Given the description of an element on the screen output the (x, y) to click on. 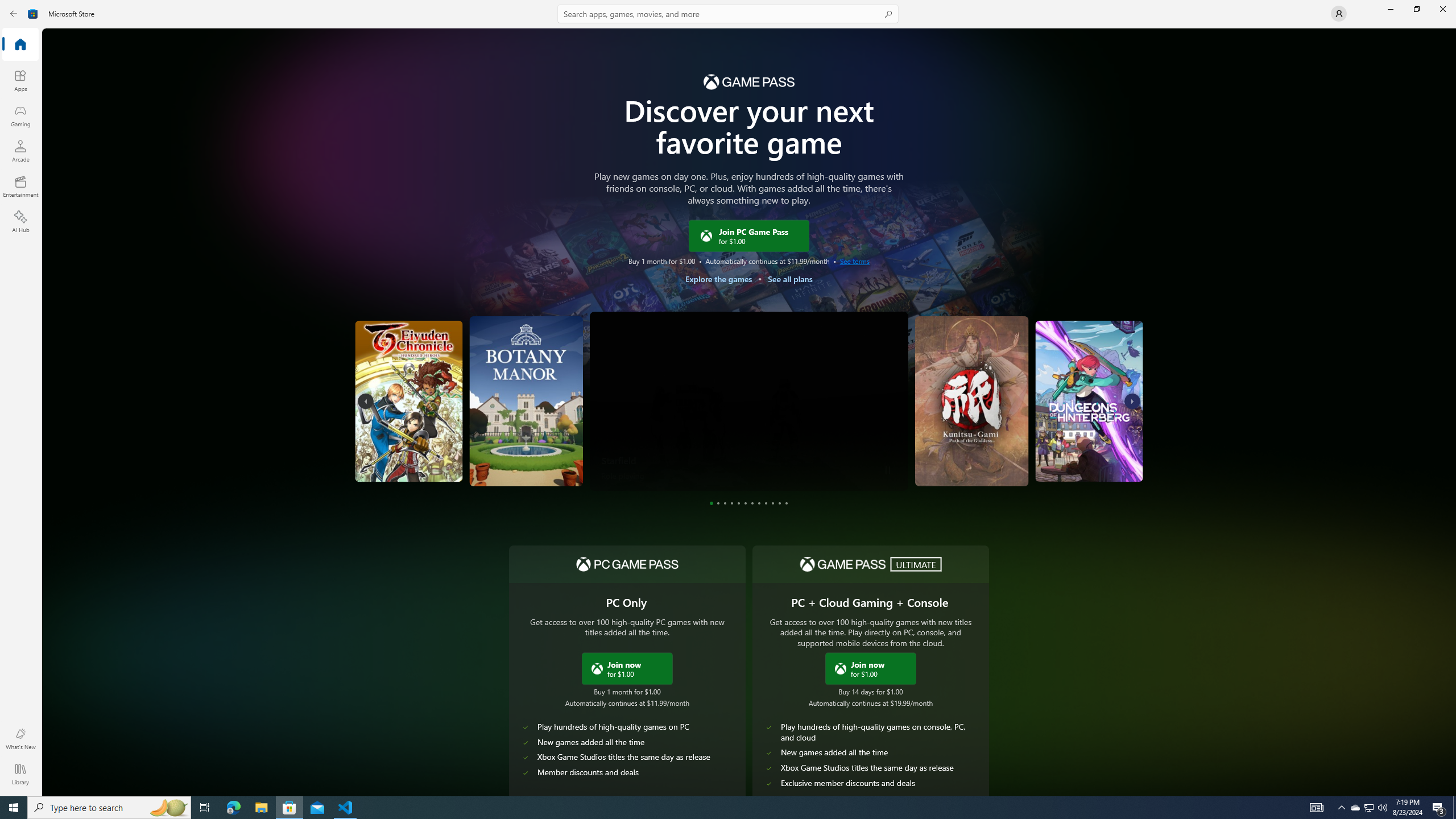
Page 9 (766, 503)
AutomationID: PosterImage (1088, 400)
Apps (20, 80)
Entertainment (20, 185)
Minimize Microsoft Store (1390, 9)
AutomationID: GamePassLogoImage (748, 81)
User profile (1338, 13)
See terms (854, 260)
Dungeons Of Hinterberg (1002, 453)
